Given the description of an element on the screen output the (x, y) to click on. 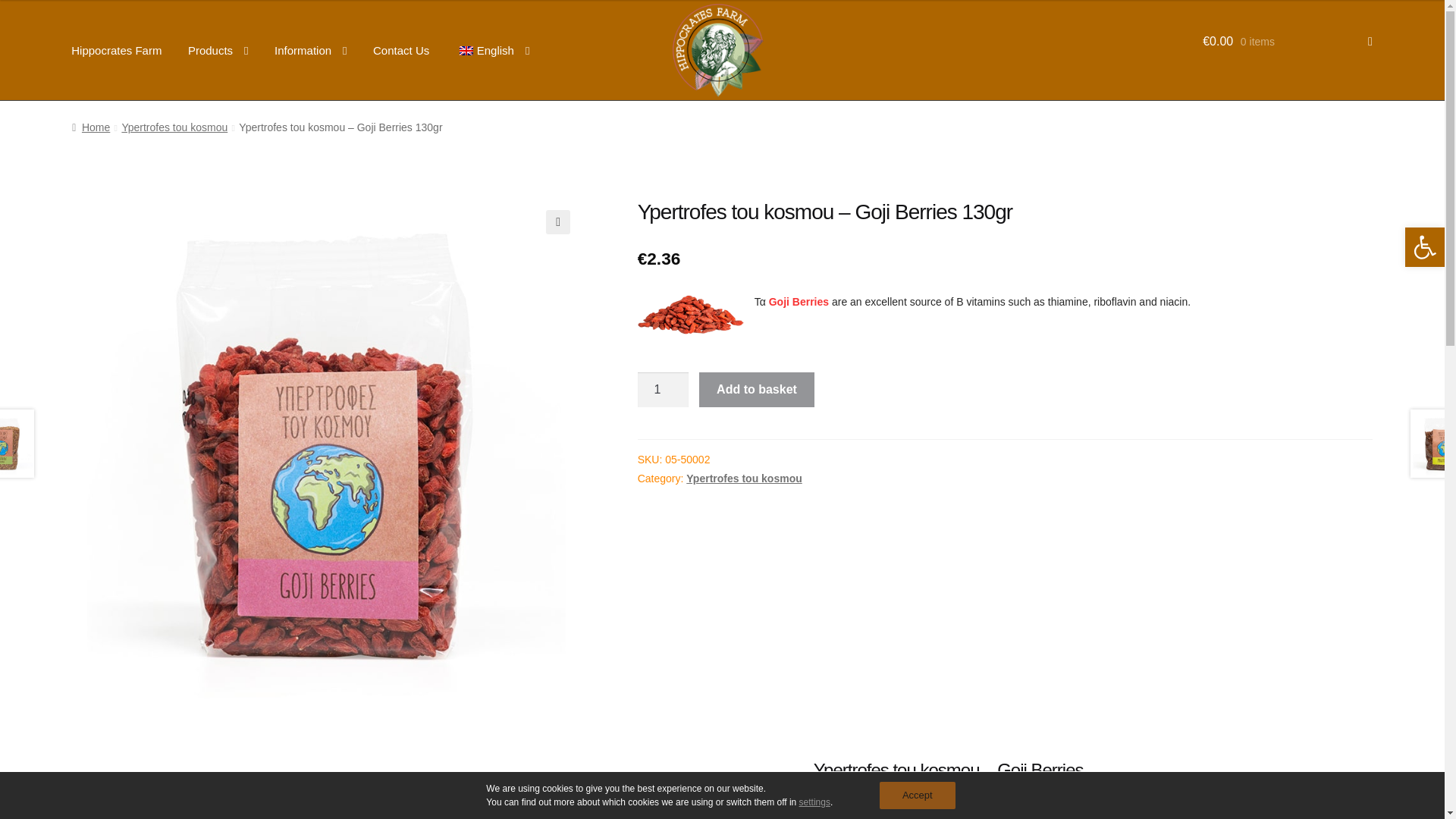
Products (218, 50)
English (466, 50)
Contact Us (401, 50)
1 (662, 389)
Hippocrates Farm (116, 50)
English (492, 50)
View your shopping basket (1287, 36)
Information (310, 50)
